Given the description of an element on the screen output the (x, y) to click on. 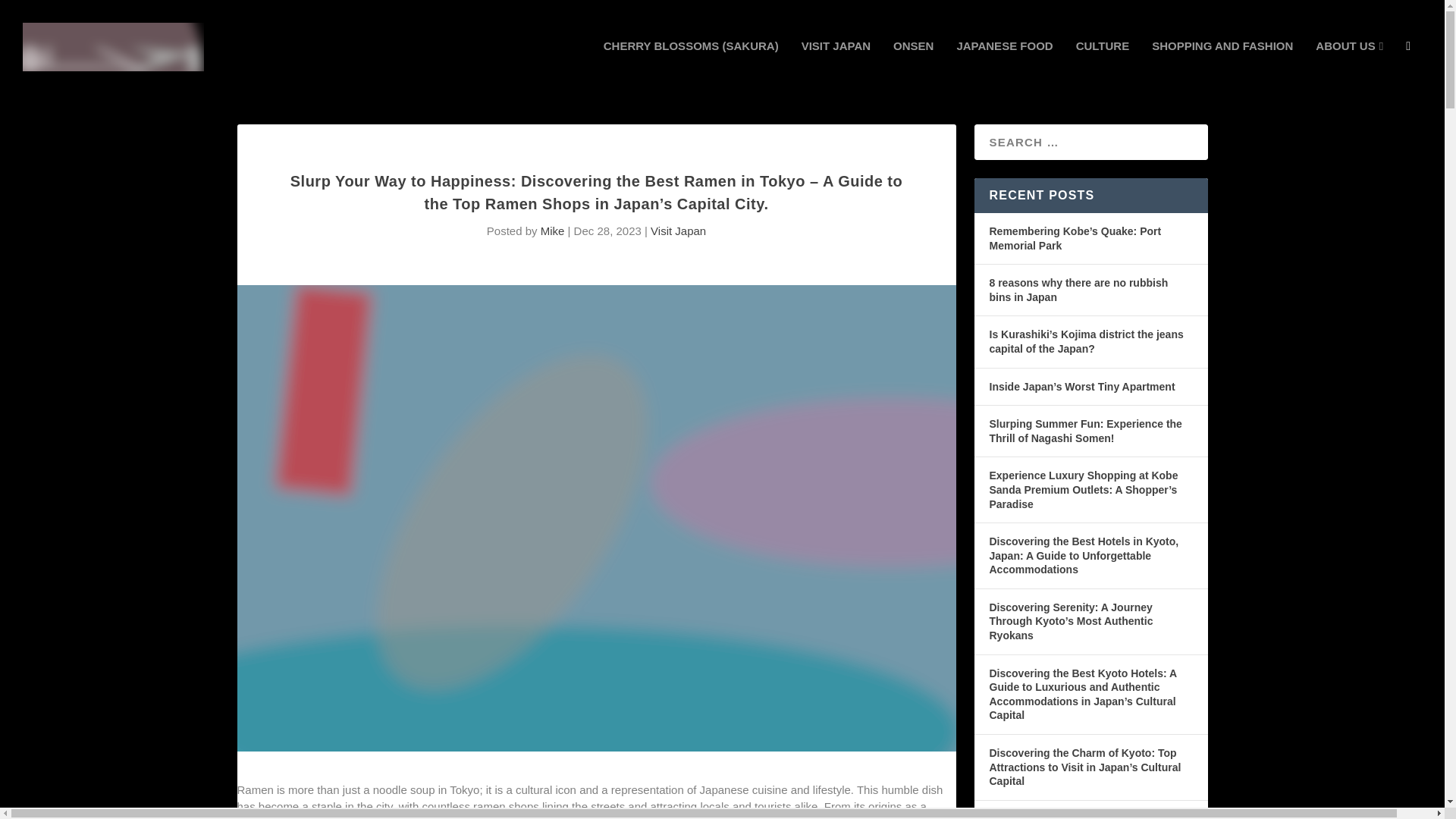
Posts by Mike (552, 230)
Mike (552, 230)
SHOPPING AND FASHION (1221, 67)
CULTURE (1102, 67)
Search (29, 13)
8 reasons why there are no rubbish bins in Japan (1077, 289)
VISIT JAPAN (836, 67)
Slurping Summer Fun: Experience the Thrill of Nagashi Somen! (1084, 430)
Visit Japan (678, 230)
